Given the description of an element on the screen output the (x, y) to click on. 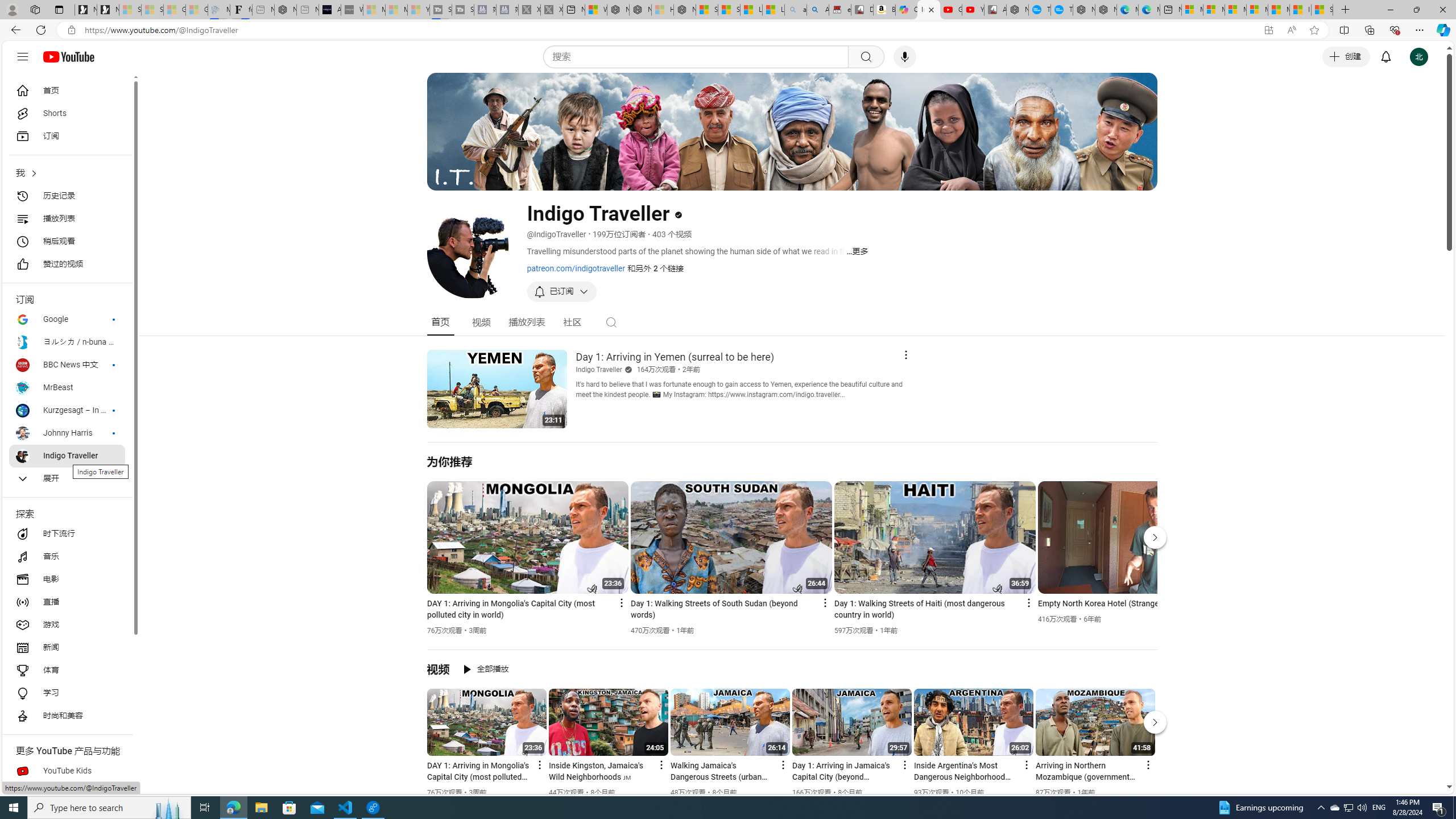
Nordace - My Account (1017, 9)
Microsoft Start Sports - Sleeping (374, 9)
YouTube Kids (66, 771)
